Given the description of an element on the screen output the (x, y) to click on. 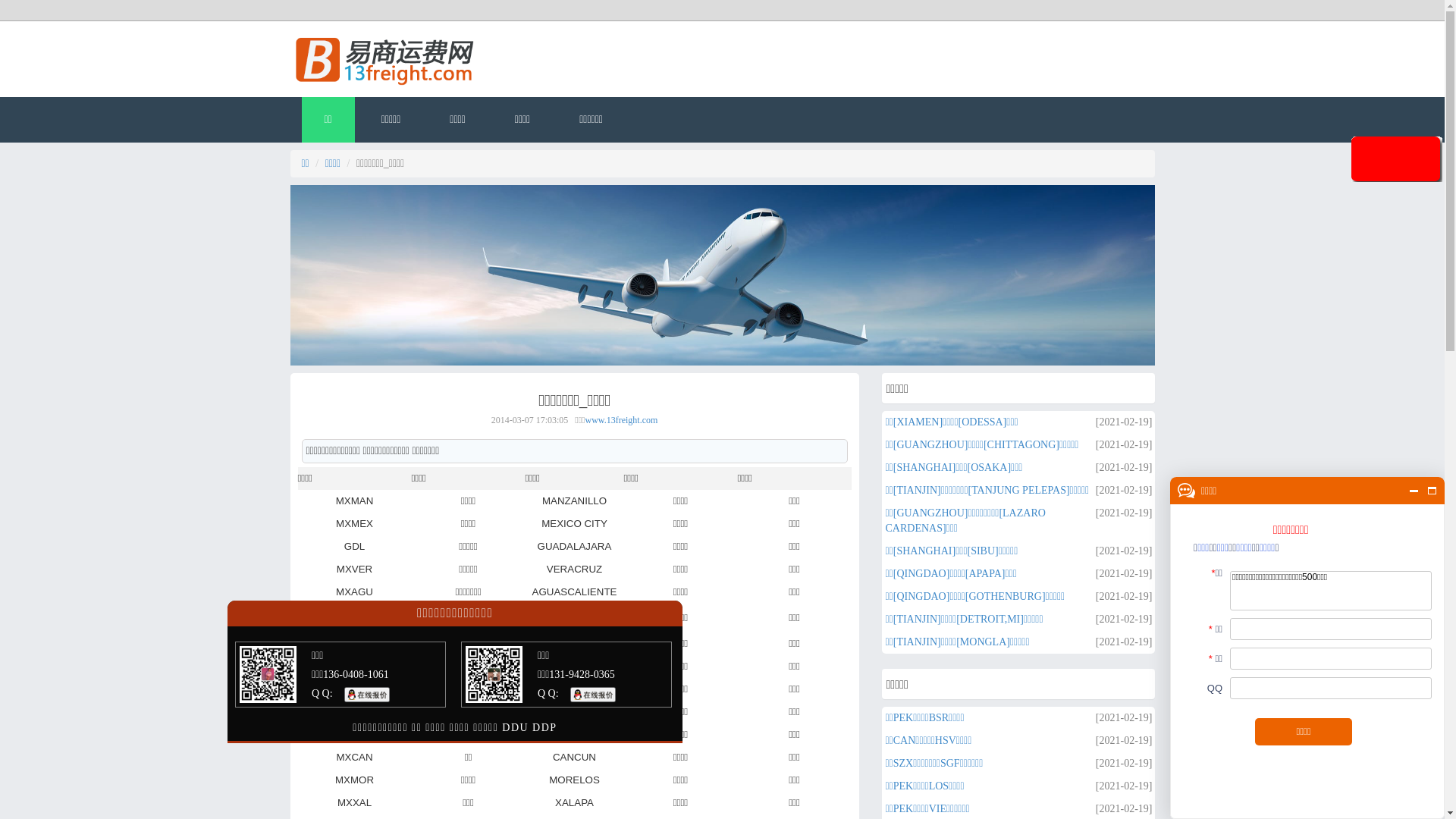
www.13freight.com Element type: text (620, 419)
